Given the description of an element on the screen output the (x, y) to click on. 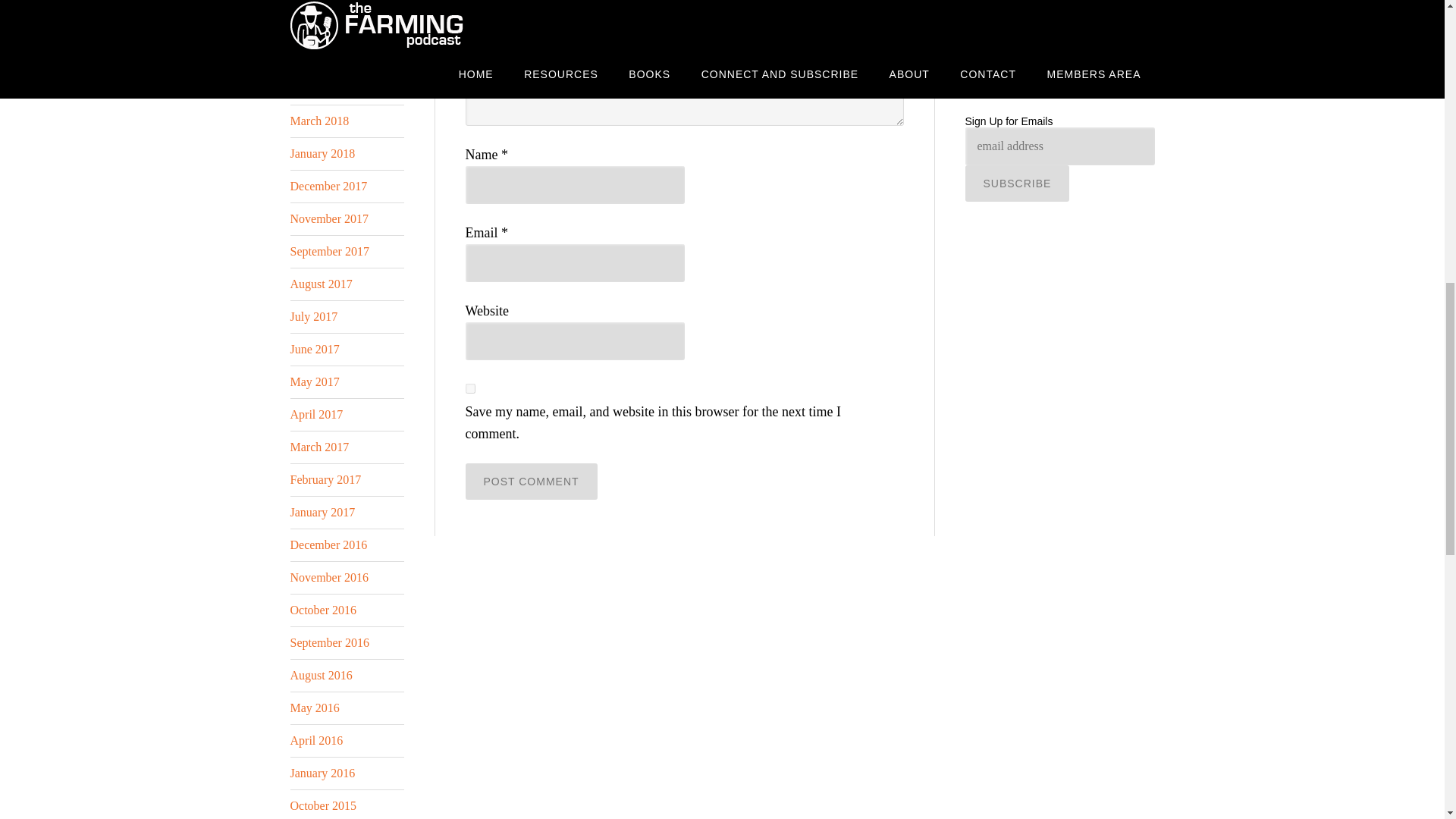
Episode-154 Farming With The Seasons (1040, 64)
yes (470, 388)
Subscribe (1015, 183)
Subscribe (1015, 183)
Episode-155 Building Productive Farm Systems (1044, 14)
Post Comment (530, 481)
Post Comment (530, 481)
